Given the description of an element on the screen output the (x, y) to click on. 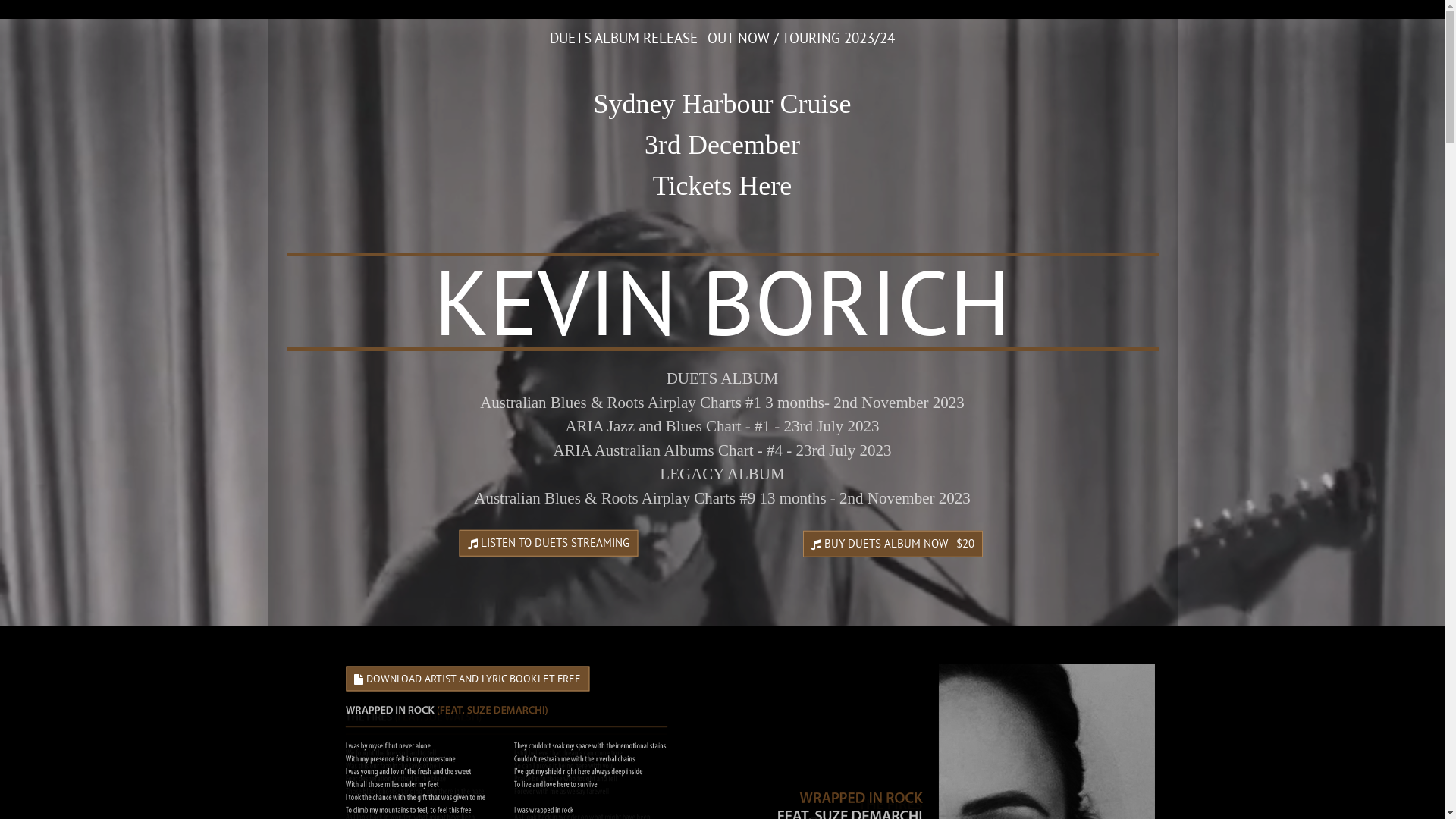
BUY DUETS ALBUM NOW - $20 Element type: text (893, 543)
Sydney Harbour Cruise
3rd December
Tickets Here Element type: text (721, 144)
DOWNLOAD ARTIST AND LYRIC BOOKLET FREE Element type: text (467, 677)
LISTEN TO DUETS STREAMING Element type: text (548, 543)
